Given the description of an element on the screen output the (x, y) to click on. 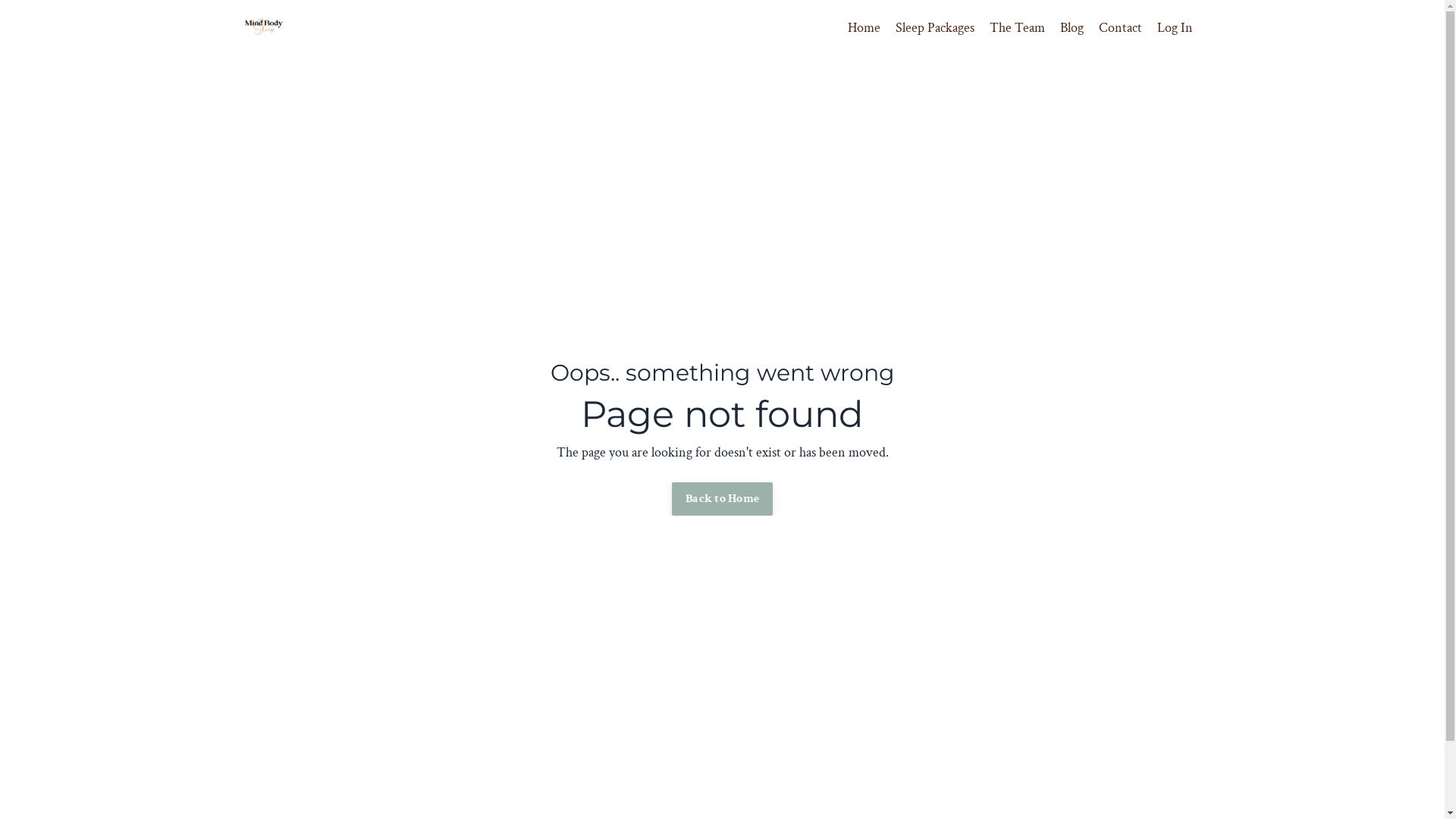
Contact Element type: text (1119, 28)
Back to Home Element type: text (721, 498)
The Team Element type: text (1016, 28)
Home Element type: text (863, 28)
Sleep Packages Element type: text (933, 28)
Blog Element type: text (1071, 28)
Log In Element type: text (1174, 27)
